Given the description of an element on the screen output the (x, y) to click on. 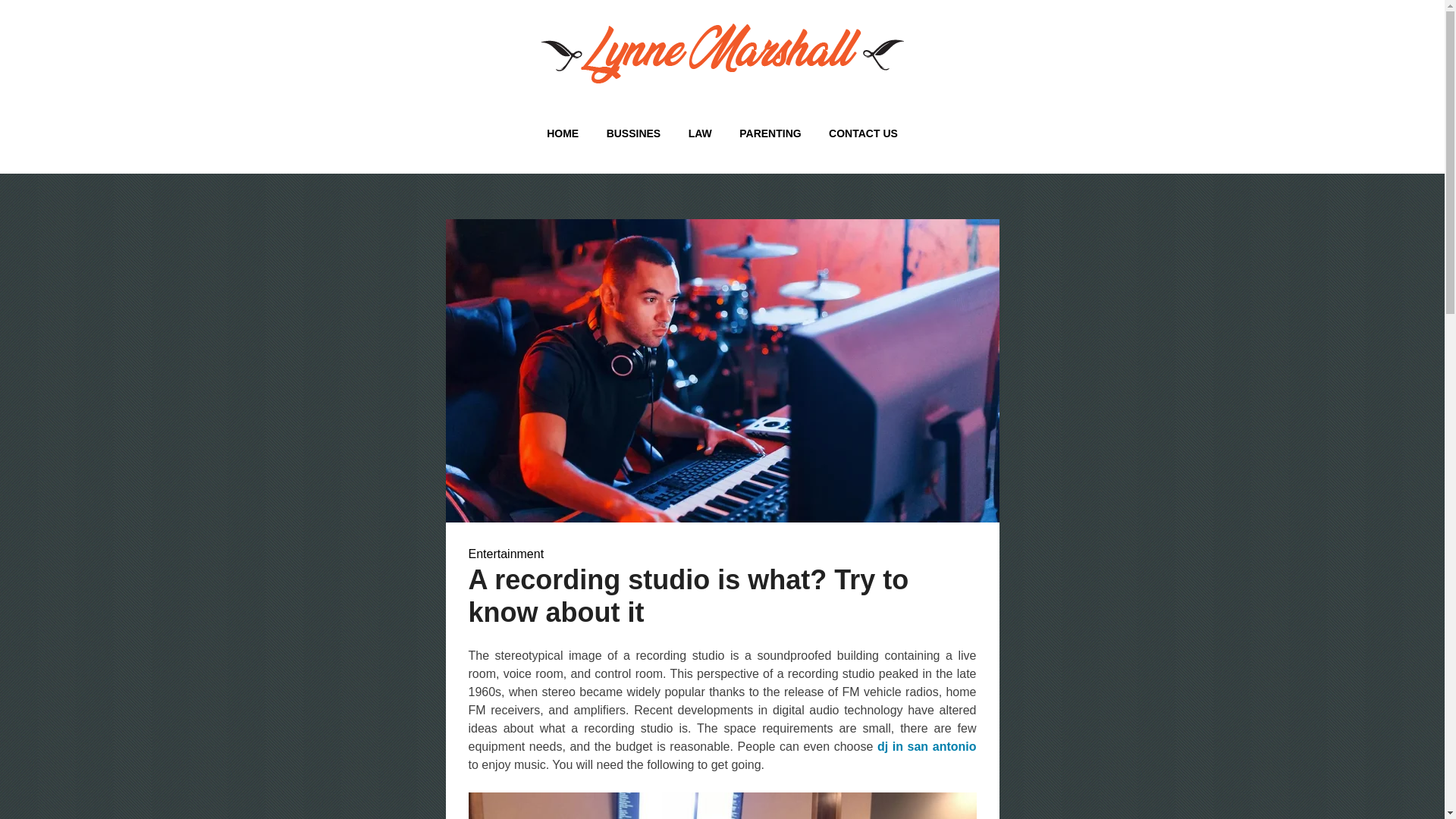
Lynne Marshall (400, 110)
HOME (562, 133)
BUSSINES (633, 133)
LAW (700, 133)
dj in san antonio (926, 746)
PARENTING (769, 133)
CONTACT US (863, 133)
Entertainment (506, 553)
